Given the description of an element on the screen output the (x, y) to click on. 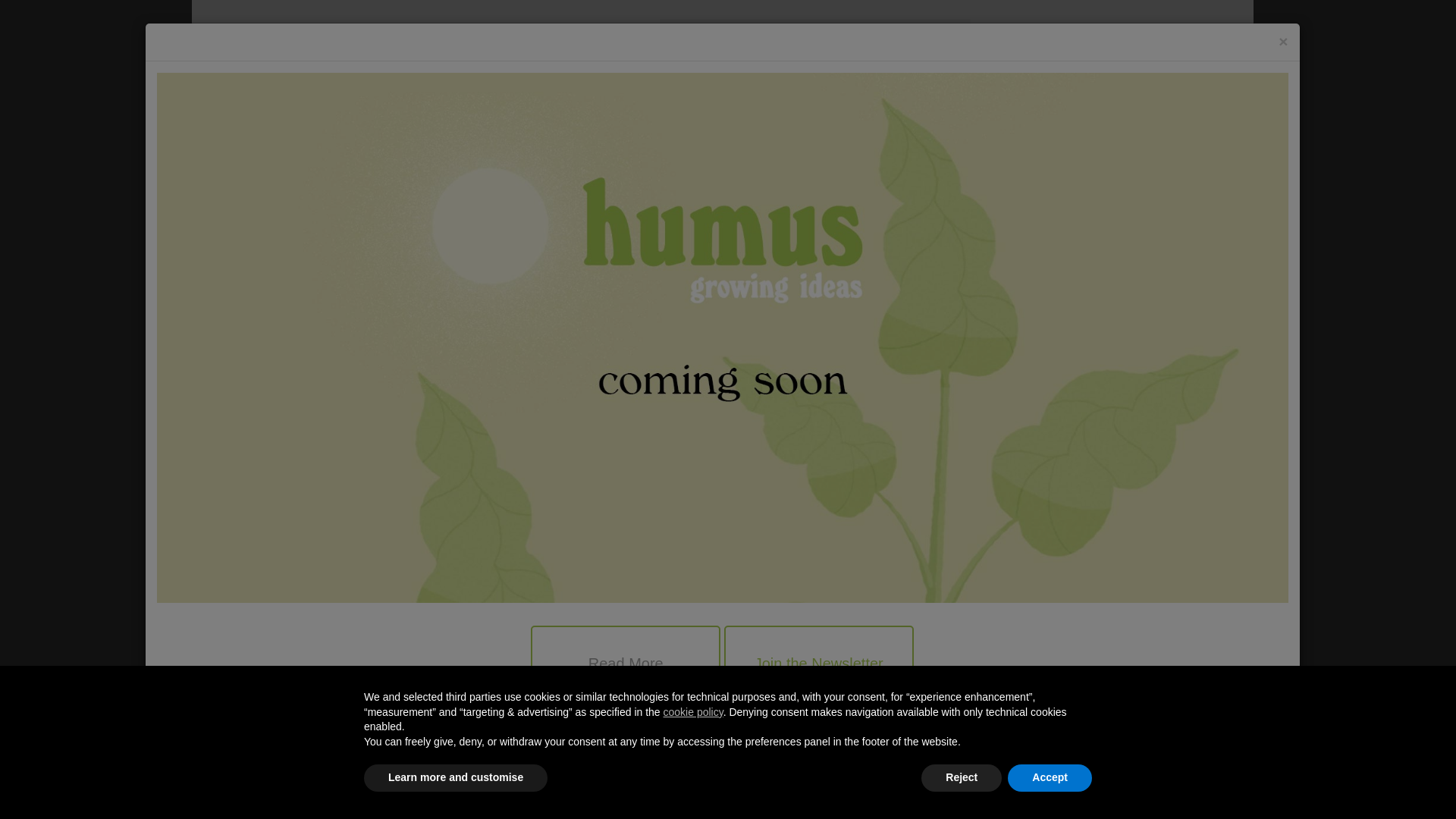
PROJECTS (349, 152)
Share by Email (767, 706)
Interview (871, 351)
Interviste (960, 351)
HOME (284, 152)
Floornature (357, 65)
Silence (916, 351)
EN (1195, 36)
Richard England (890, 333)
